Given the description of an element on the screen output the (x, y) to click on. 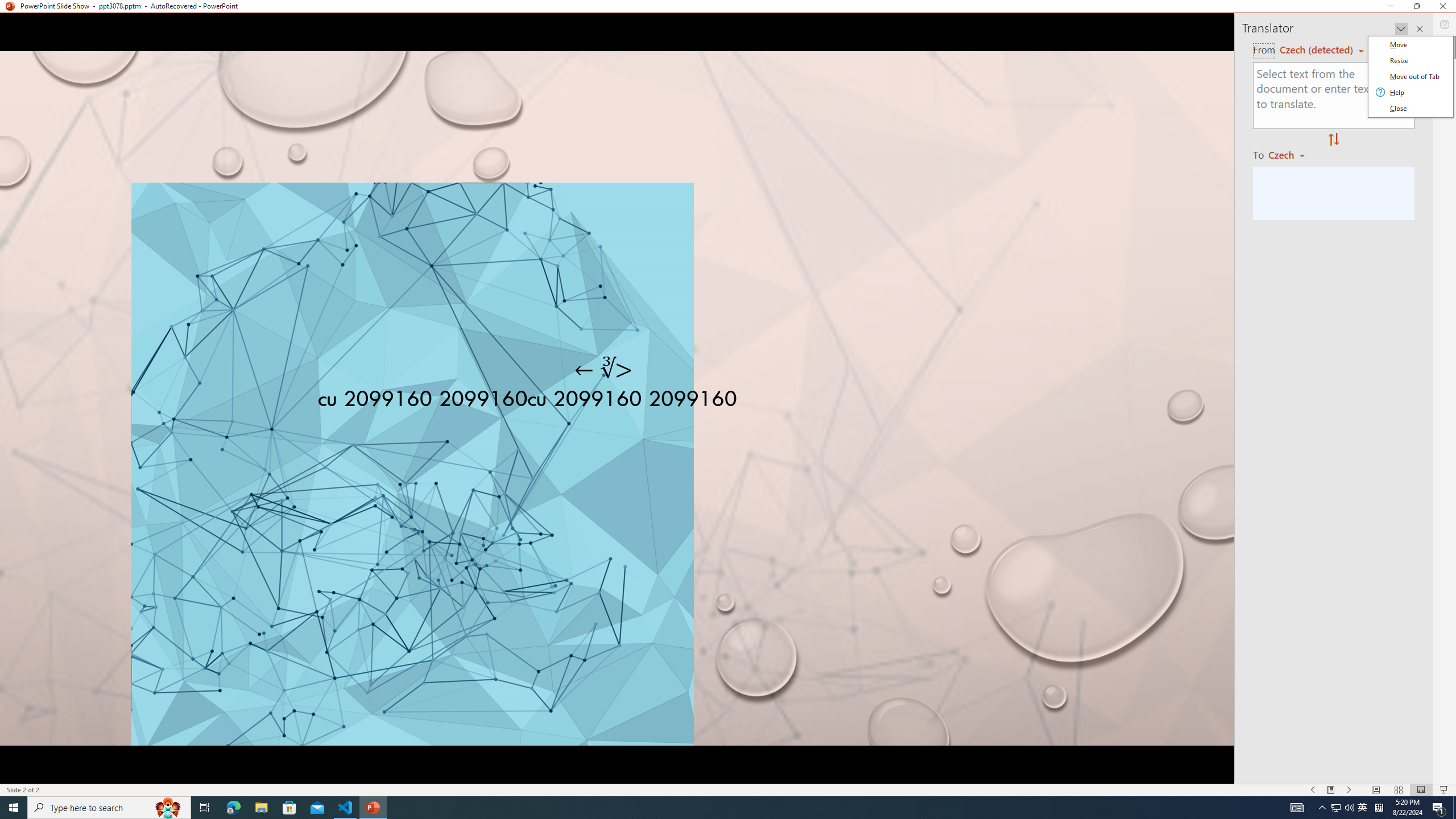
Microsoft Edge (233, 807)
Czech (detected) (1317, 50)
Action Center, 1 new notification (1439, 807)
Slide Show Next On (1349, 790)
Menu On (1331, 790)
